Given the description of an element on the screen output the (x, y) to click on. 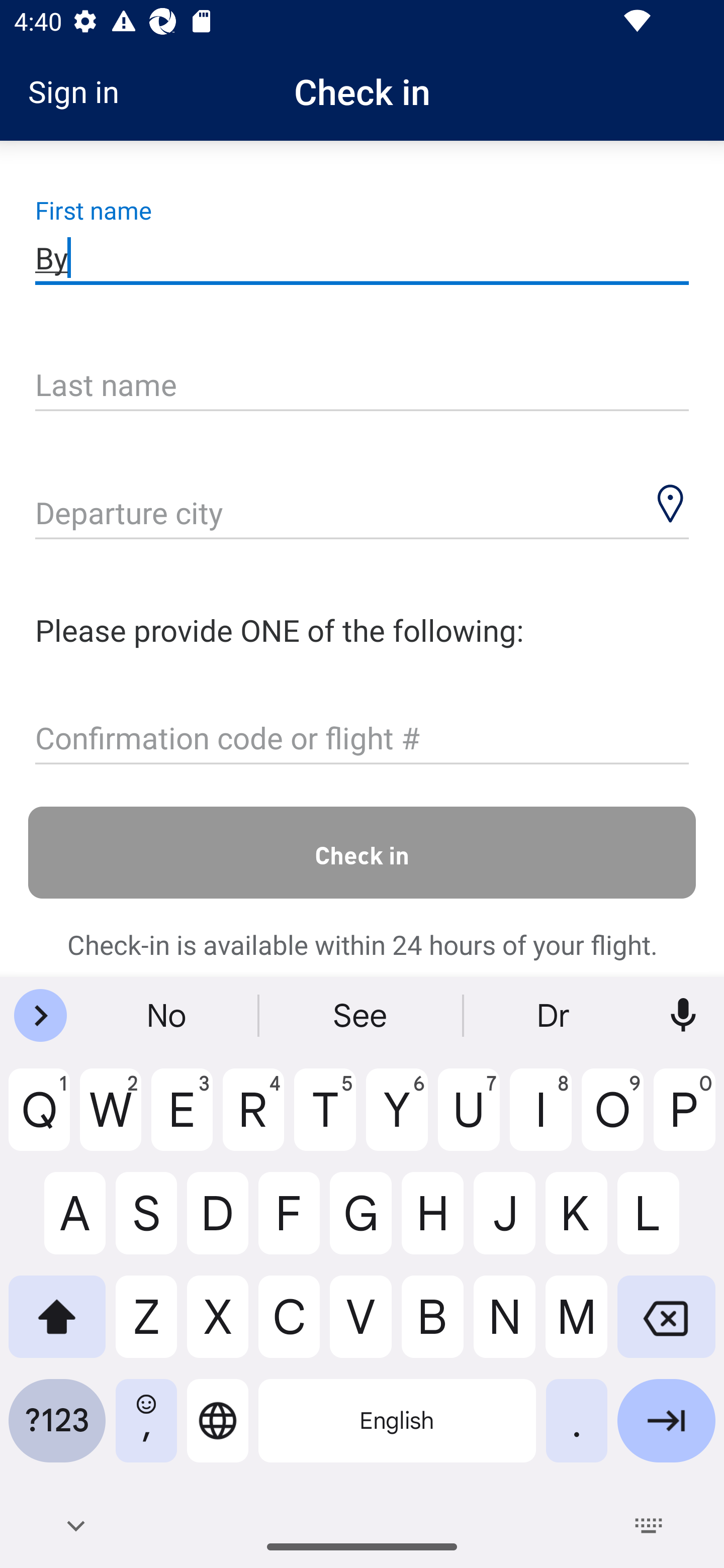
Sign in (80, 91)
By First name (361, 257)
Last name (361, 386)
Departure city (361, 514)
Check in (361, 851)
